Given the description of an element on the screen output the (x, y) to click on. 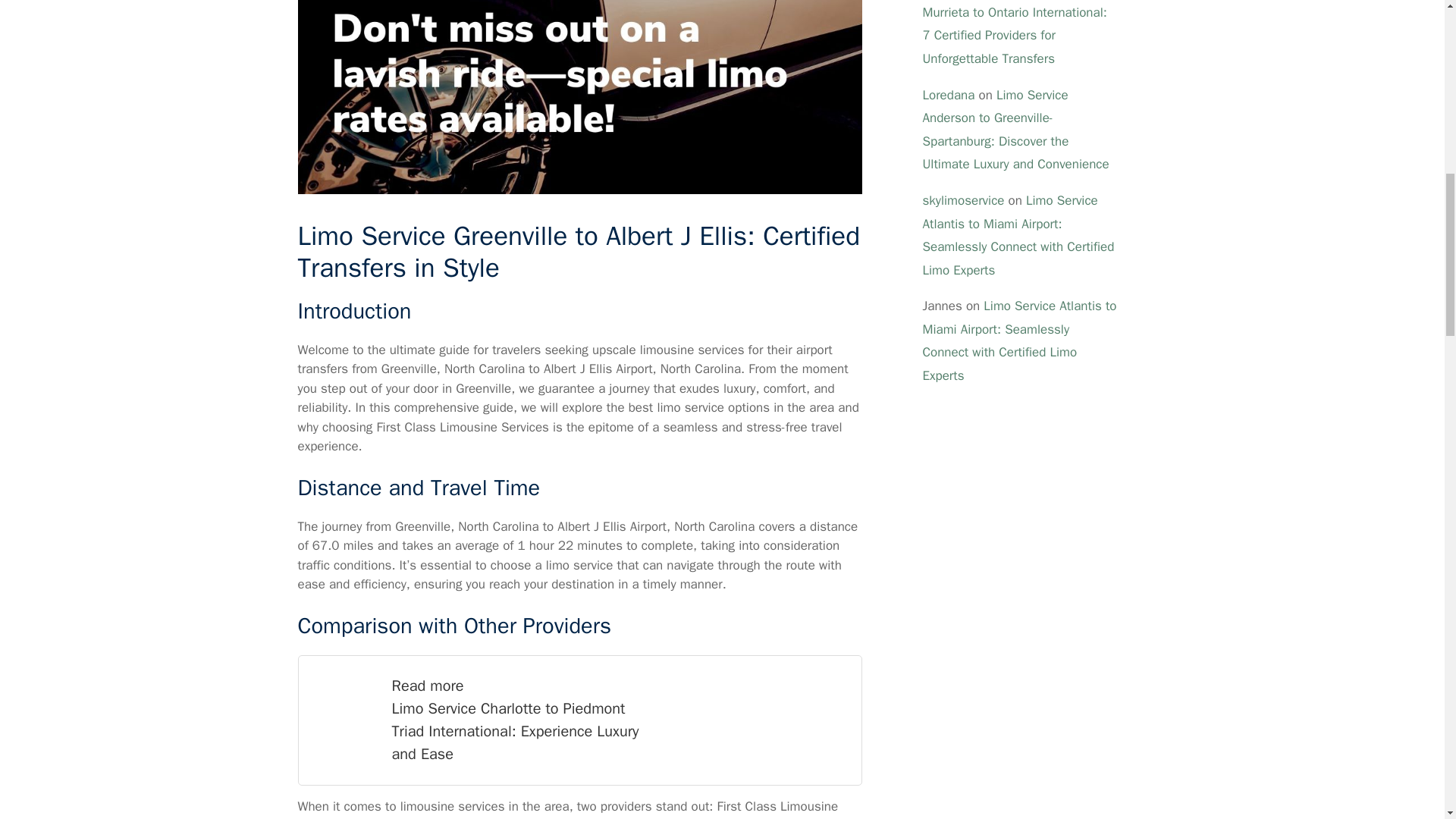
skylimoservice (962, 200)
Loredana (947, 94)
